Given the description of an element on the screen output the (x, y) to click on. 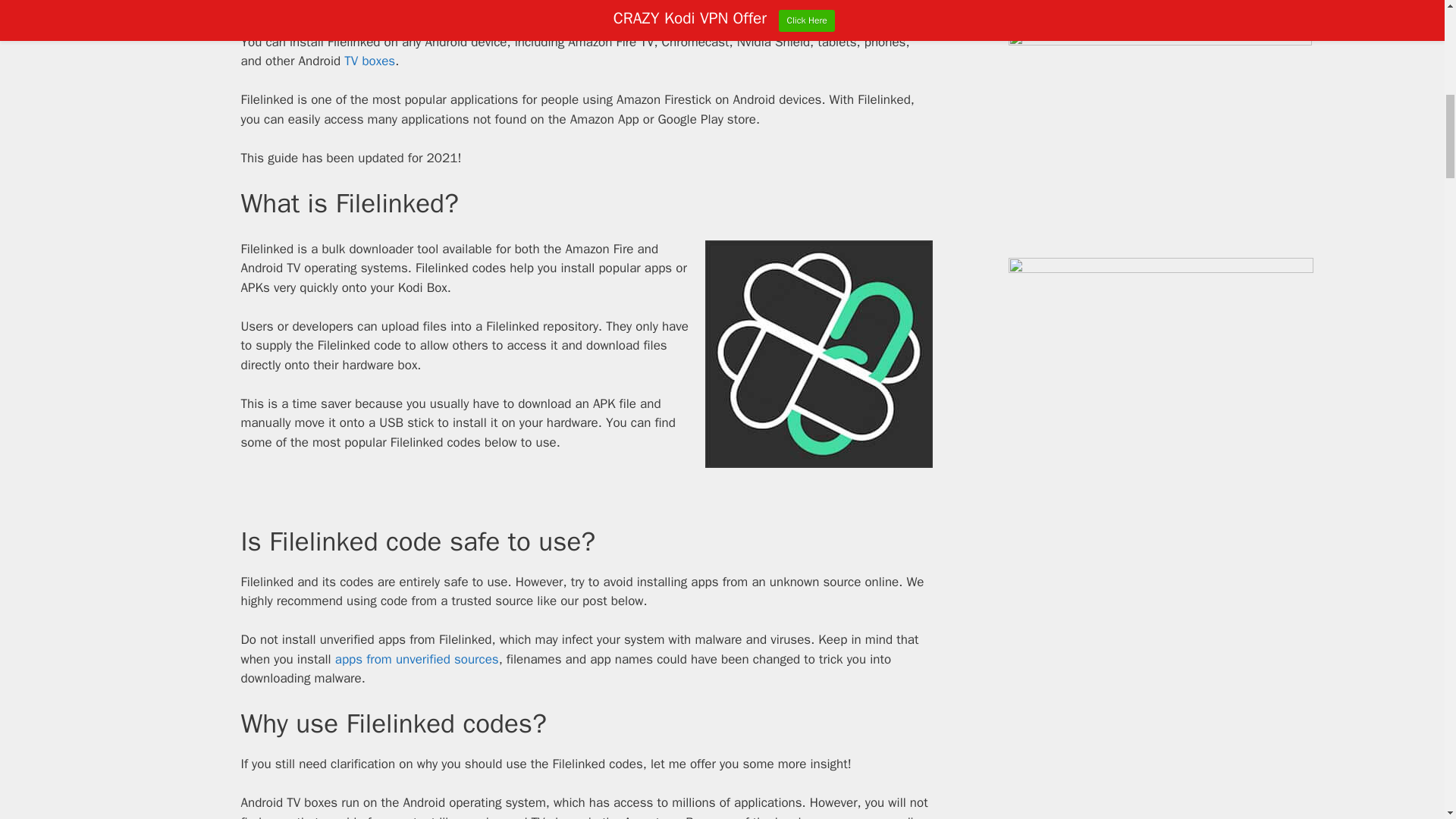
Kodi hardware (281, 5)
TV boxes (368, 60)
apps from unverified sources (416, 659)
